Given the description of an element on the screen output the (x, y) to click on. 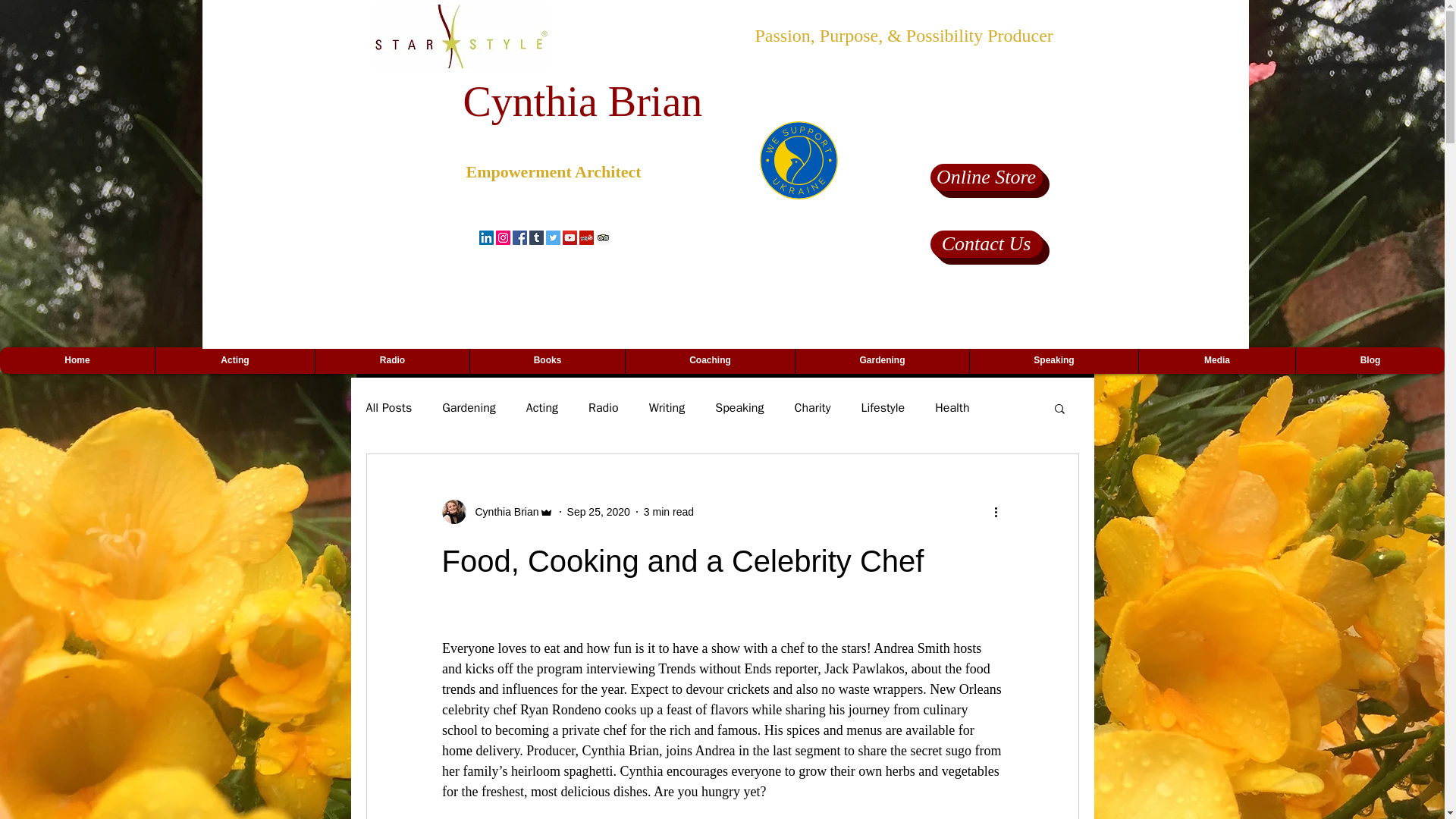
Lifestyle (882, 408)
All Posts (388, 408)
Radio (603, 408)
Acting (234, 360)
Coaching (709, 360)
3 min read (668, 510)
Health (951, 408)
Home (77, 360)
Gardening (469, 408)
Speaking (738, 408)
